Given the description of an element on the screen output the (x, y) to click on. 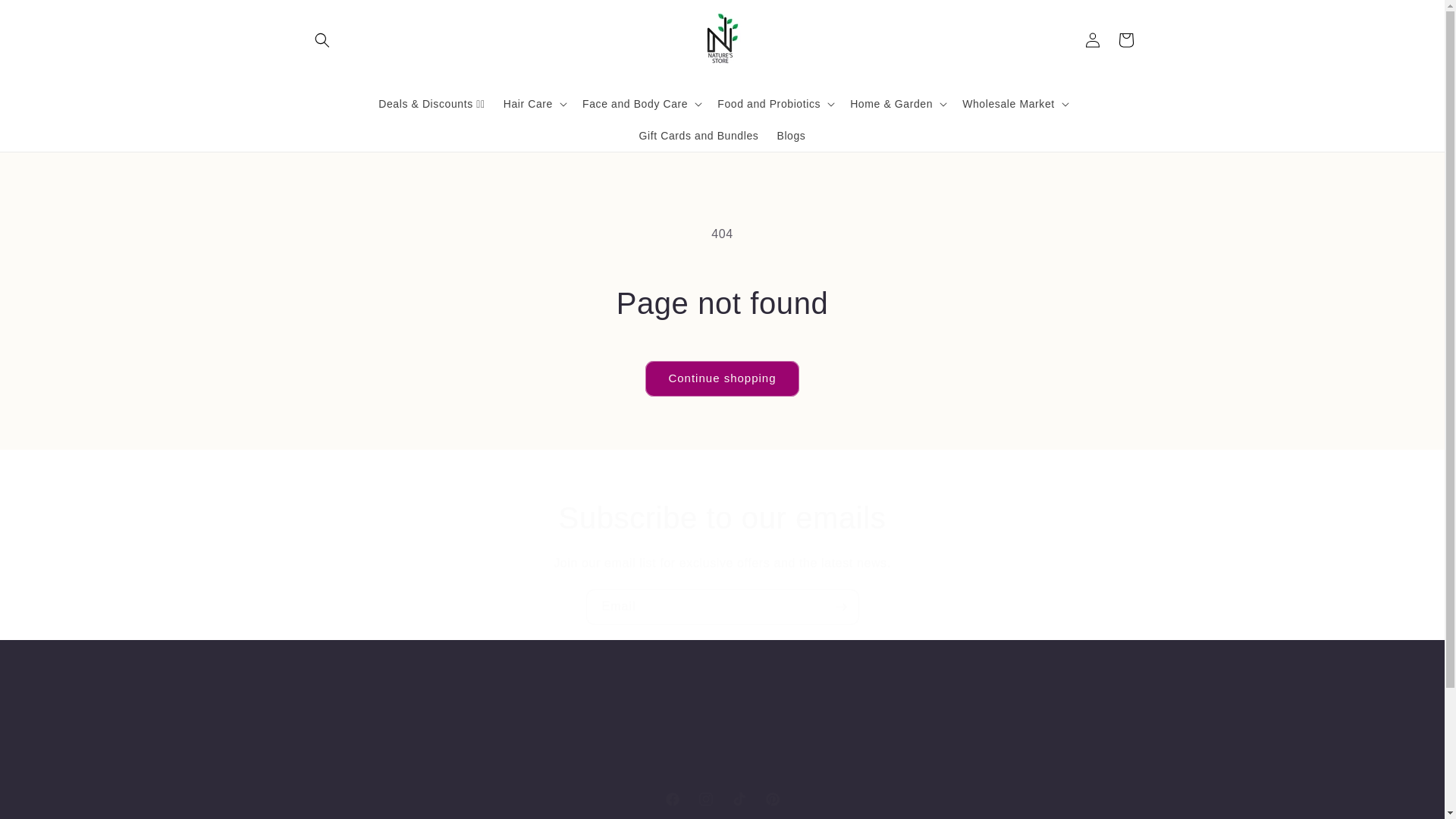
Skip to content (45, 17)
Email (721, 798)
Subscribe to our emails (722, 606)
